Given the description of an element on the screen output the (x, y) to click on. 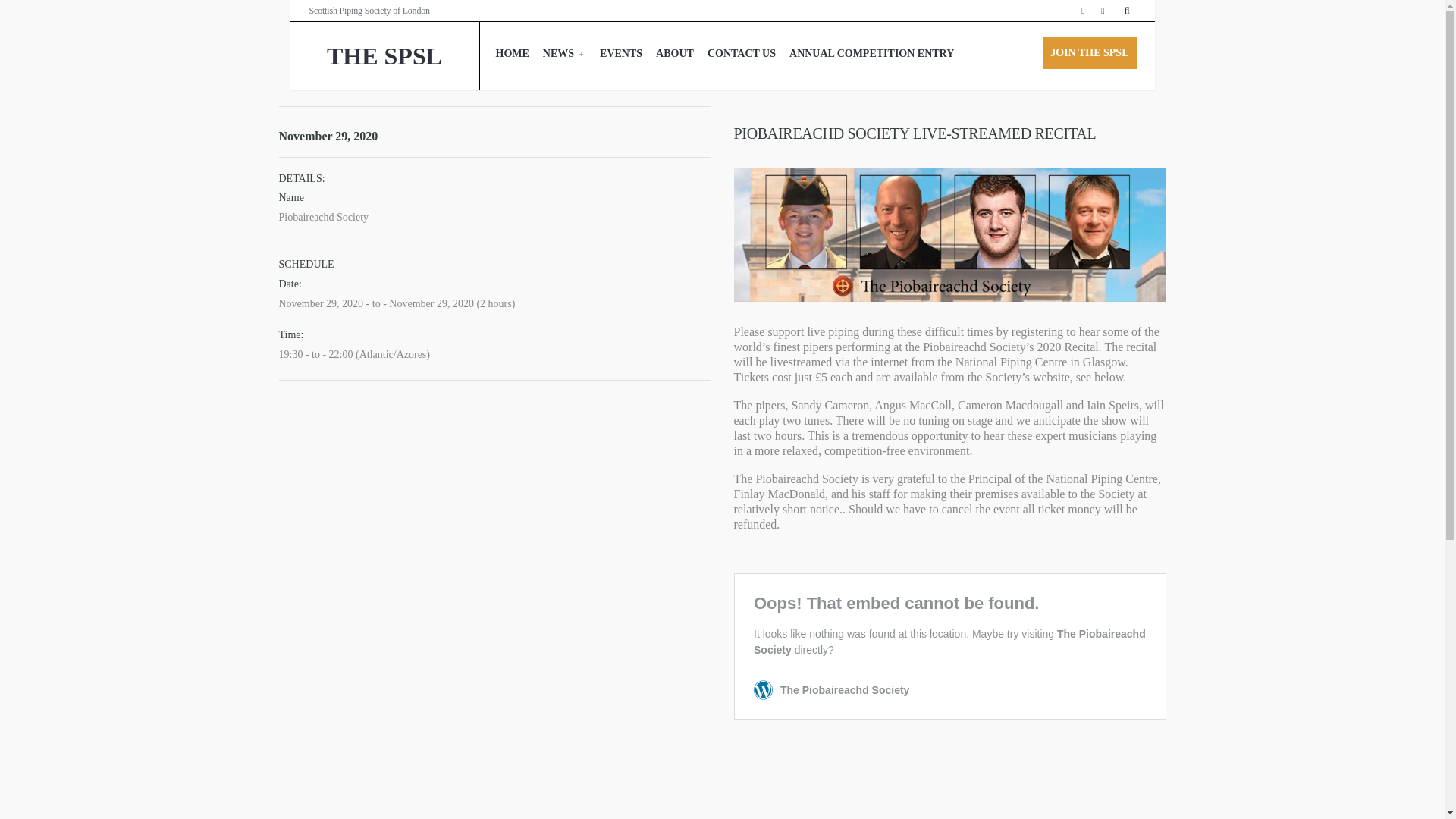
EVENTS (620, 54)
JOIN THE SPSL (1088, 52)
NEWS (563, 54)
CONTACT US (741, 54)
Facebook (1083, 10)
ABOUT (674, 54)
THE SPSL (384, 55)
HOME (511, 54)
ANNUAL COMPETITION ENTRY (871, 54)
Twitter (1102, 10)
